Given the description of an element on the screen output the (x, y) to click on. 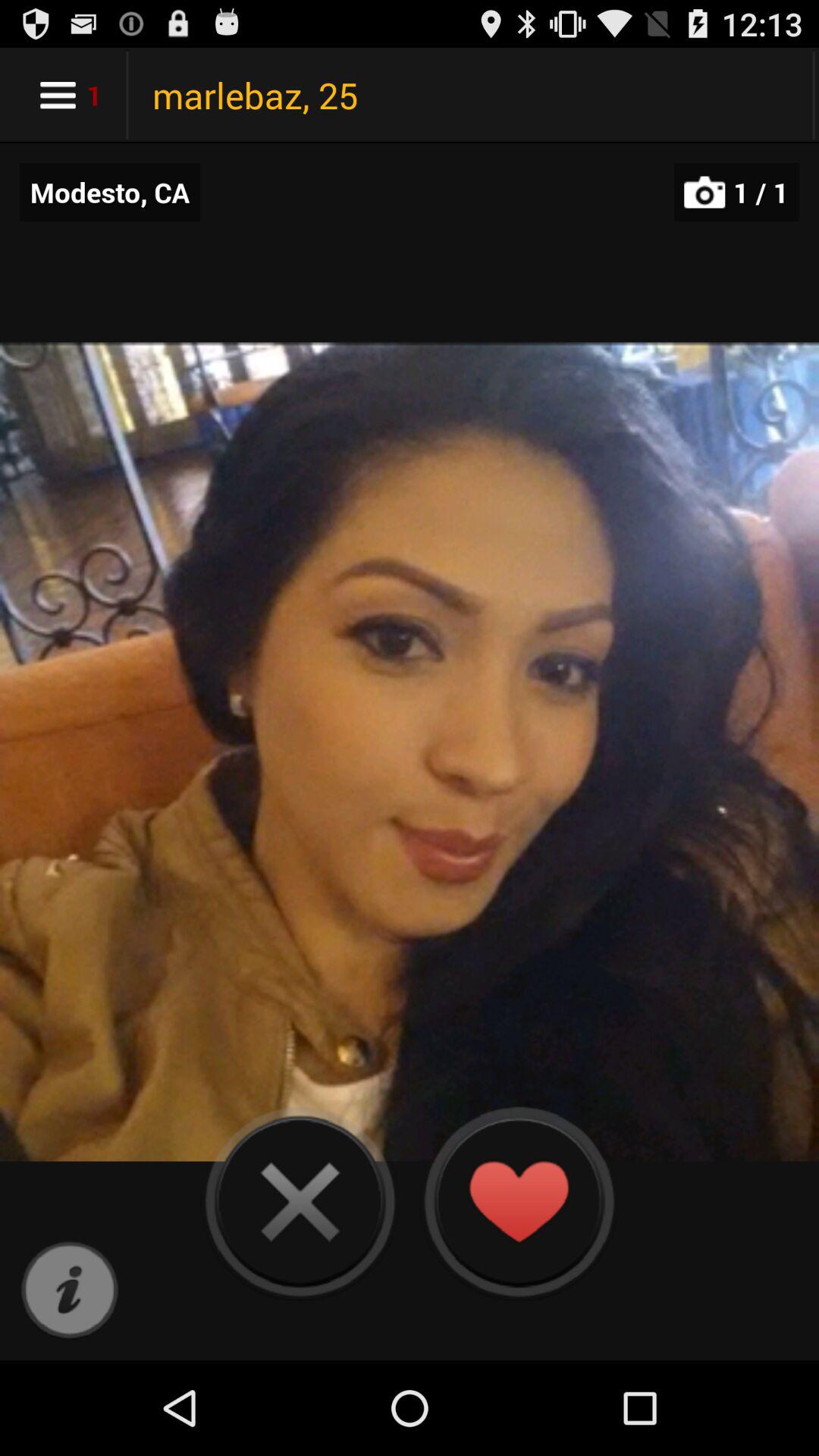
pass option (299, 1200)
